Given the description of an element on the screen output the (x, y) to click on. 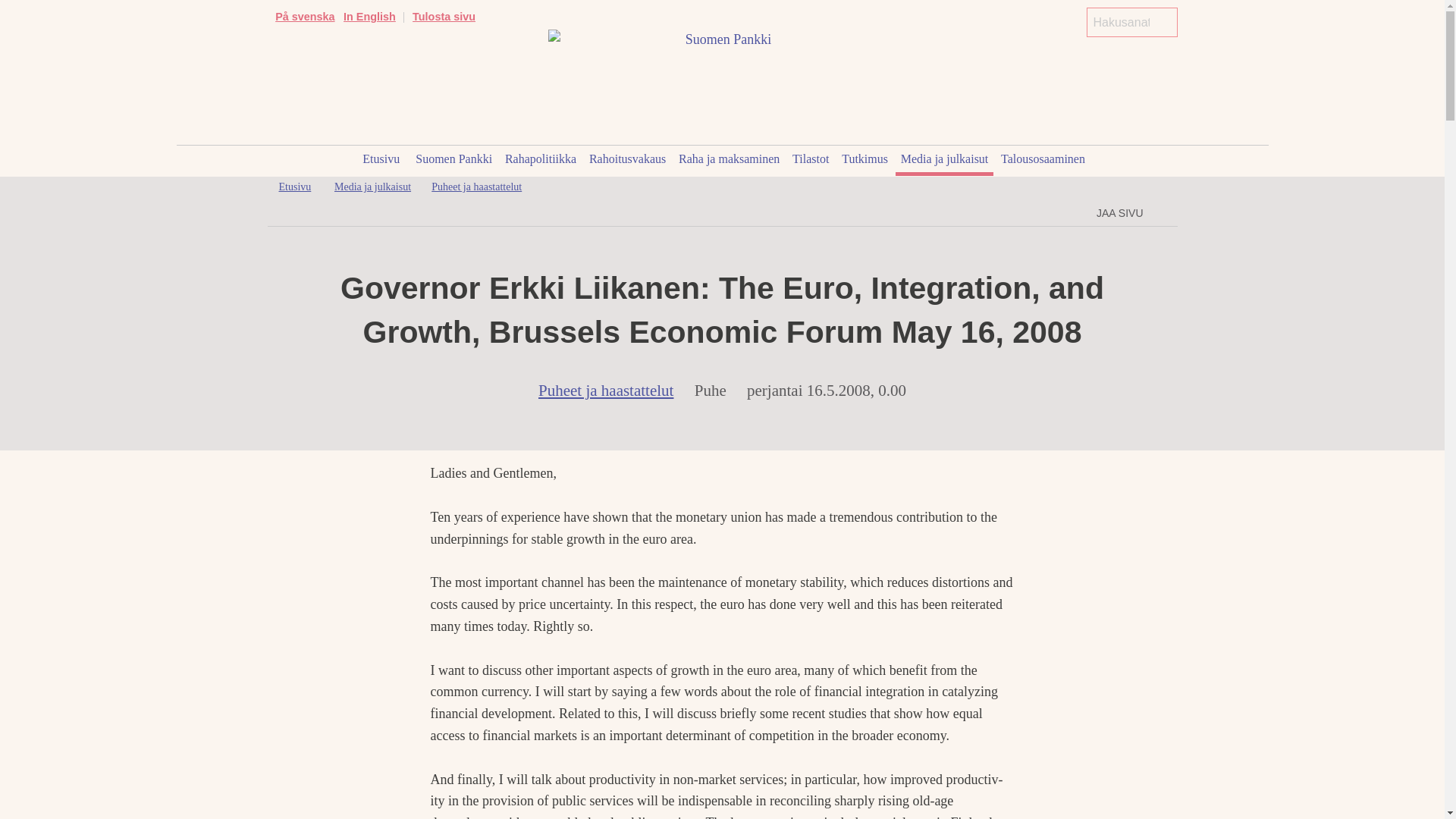
Siirry osioon Media ja julkaisut (372, 186)
Etusivu (381, 160)
Siirry osioon Puheet ja haastattelut (475, 186)
Suomen Pankki (453, 161)
Suomenpankki (721, 37)
In English (369, 16)
Tulosta sivu (444, 16)
Siirry etusivulle (295, 186)
